Given the description of an element on the screen output the (x, y) to click on. 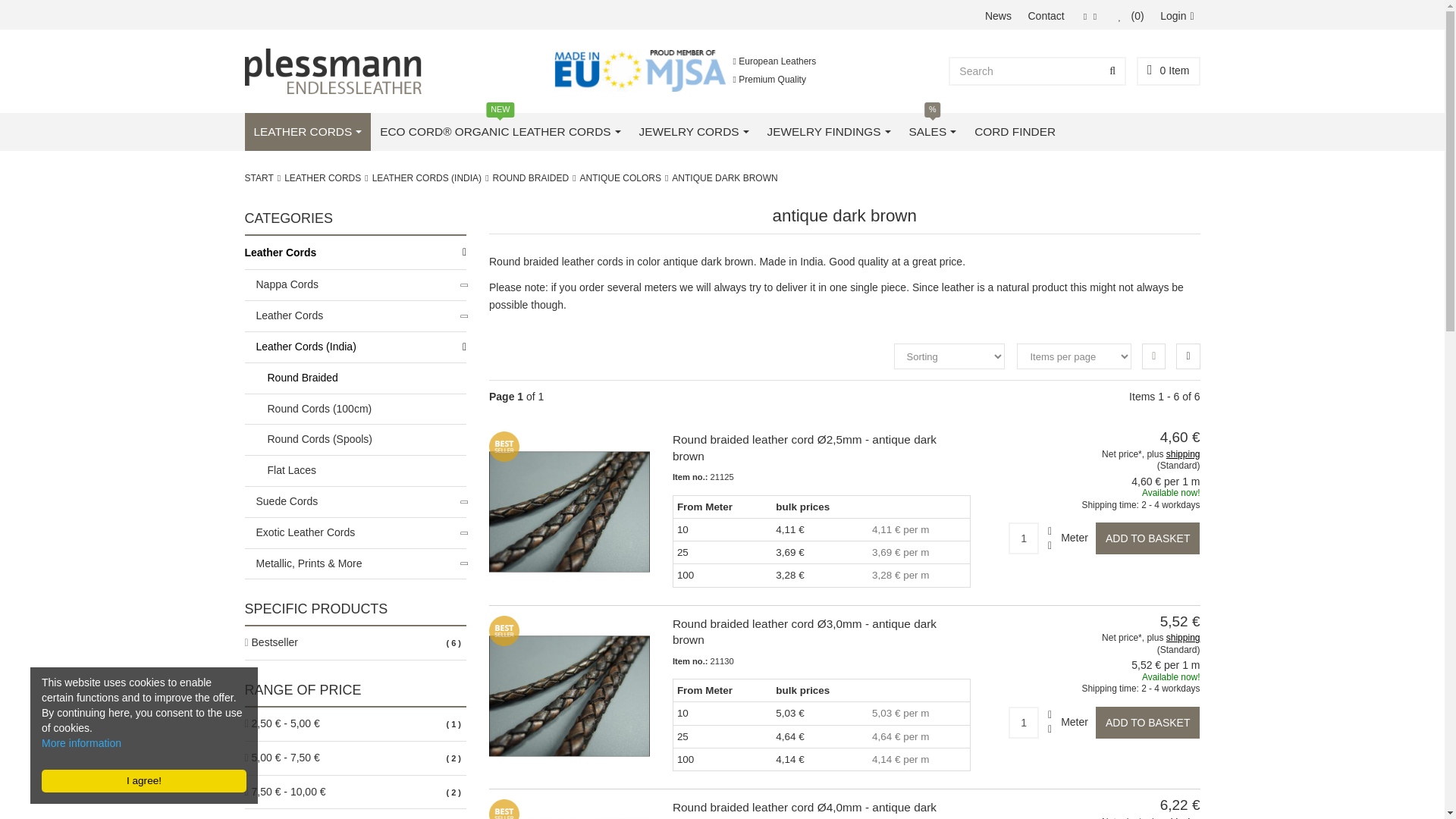
Leather Cords (322, 177)
European Leather (599, 70)
News (998, 16)
Start (258, 177)
Show Wishlist (1131, 16)
Antique Colors (620, 177)
1 (1024, 722)
1 (1024, 538)
Contact (1046, 16)
Round Braided (531, 177)
Basket (1168, 70)
EUR (1084, 16)
Login (1175, 16)
antique dark brown (724, 177)
endlessleather.com (333, 71)
